Given the description of an element on the screen output the (x, y) to click on. 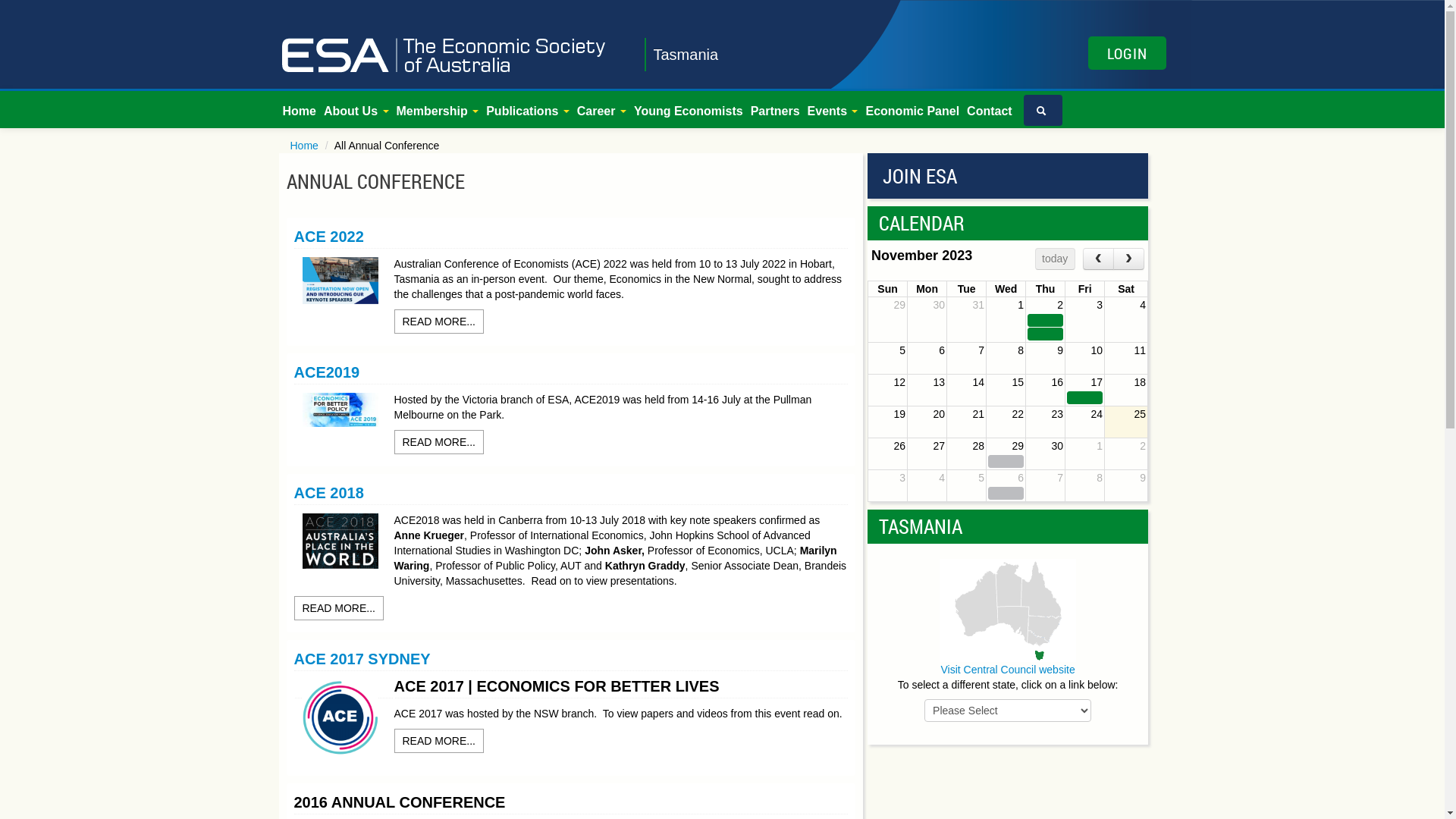
READ MORE... Element type: text (438, 740)
READ MORE... Element type: text (438, 441)
Membership Element type: text (437, 111)
Events Element type: text (832, 111)
Career Element type: text (601, 111)
CALENDAR Element type: text (921, 223)
TASMANIA Element type: text (920, 526)
Home Element type: text (304, 145)
ACE 2022 Element type: text (329, 236)
ACE2019 Element type: text (327, 372)
Economic Panel Element type: text (912, 111)
READ MORE... Element type: text (438, 321)
Publications Element type: text (527, 111)
About Us Element type: text (356, 111)
ACE 2017 SYDNEY Element type: text (362, 658)
Partners Element type: text (774, 111)
Visit Central Council website Element type: text (1008, 669)
READ MORE... Element type: text (338, 608)
Home Element type: text (299, 111)
Young Economists Element type: text (688, 111)
JOIN ESA Element type: text (1007, 175)
Contact Element type: text (989, 111)
ACE 2018 Element type: text (329, 492)
LOGIN Element type: text (1126, 52)
